Given the description of an element on the screen output the (x, y) to click on. 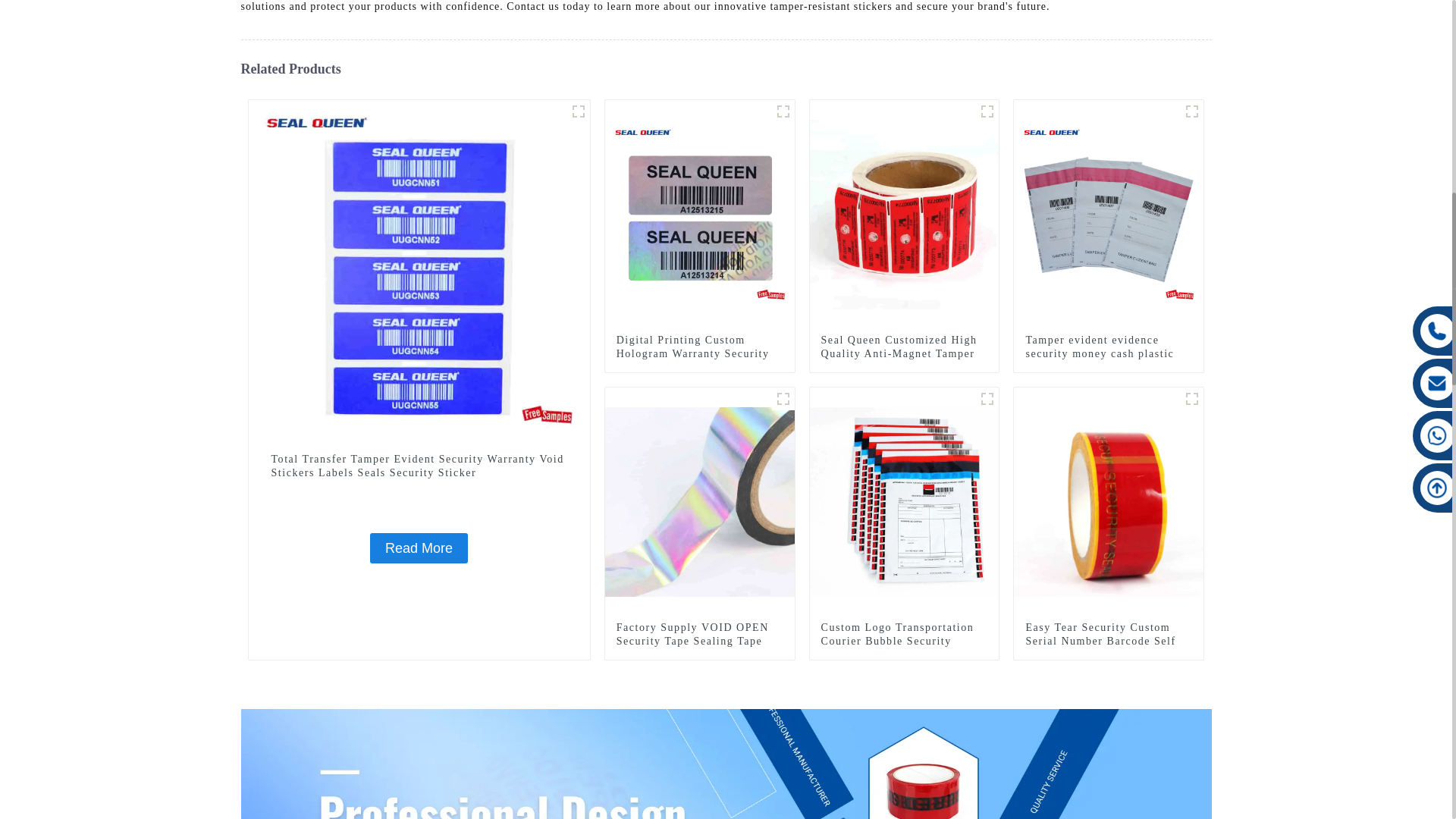
Tamper evident evidence security money cash plastic bag (1108, 214)
19 (1192, 110)
Tamper evident evidence security money cash plastic bag (1108, 353)
Read More (418, 548)
